Given the description of an element on the screen output the (x, y) to click on. 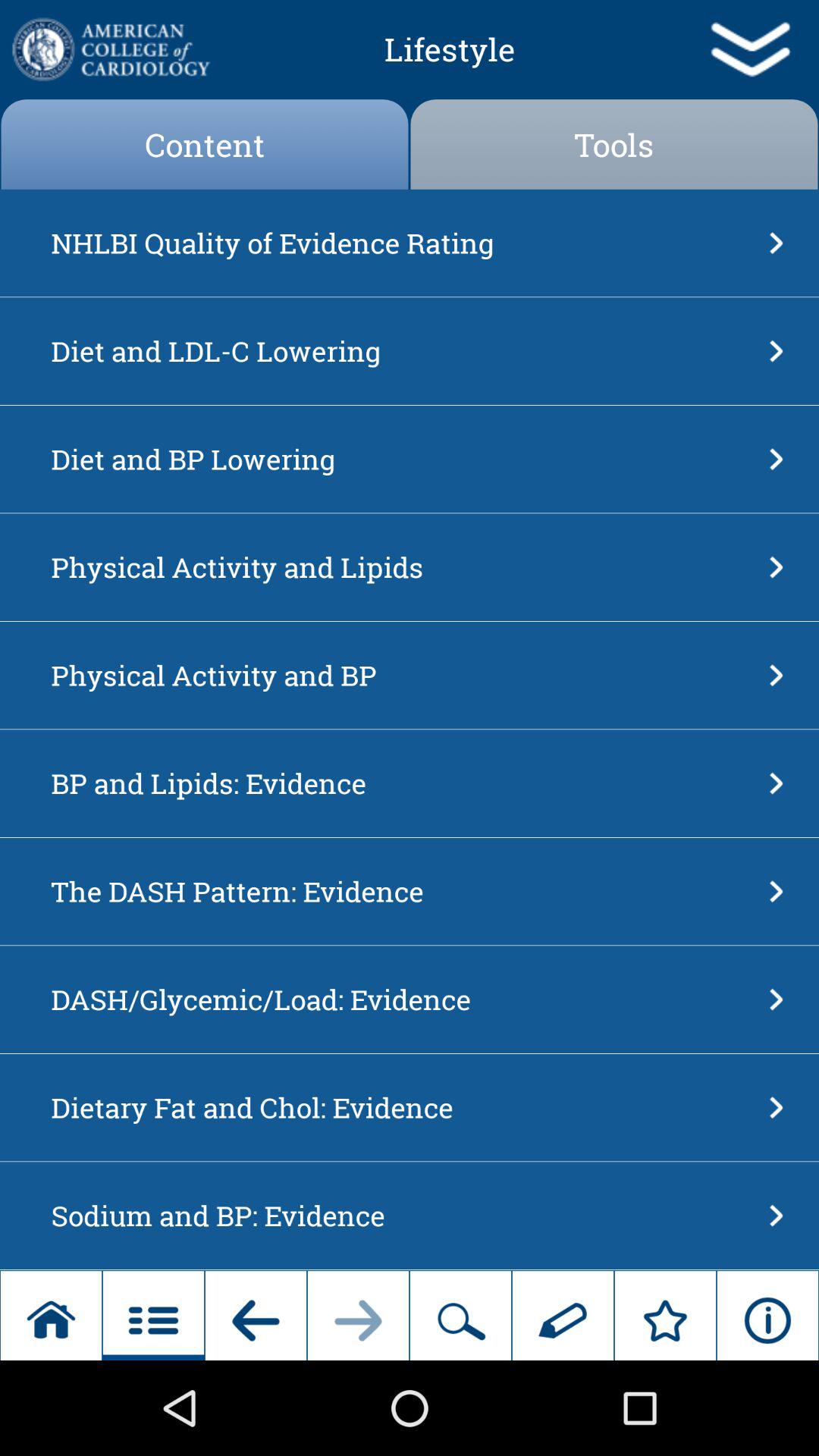
open the item to the right of content (613, 144)
